Given the description of an element on the screen output the (x, y) to click on. 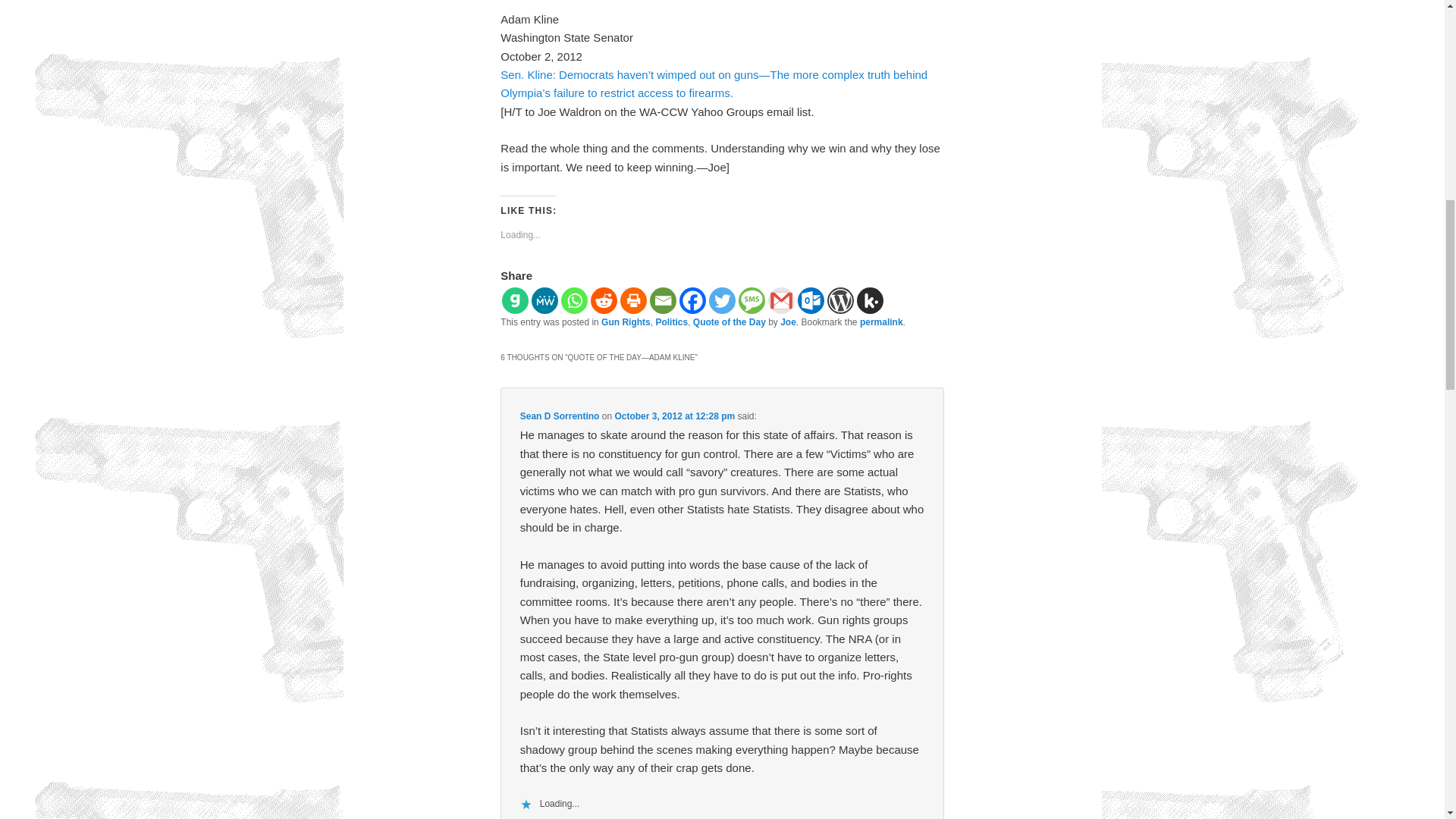
Reddit (604, 300)
Email (663, 300)
MeWe (544, 300)
Quote of the Day (729, 321)
Gun Rights (625, 321)
Twitter (722, 300)
Sean D Sorrentino (559, 416)
permalink (881, 321)
Whatsapp (574, 300)
Outlook.com (810, 300)
SMS (751, 300)
Politics (671, 321)
Facebook (692, 300)
Google Gmail (781, 300)
Gab (515, 300)
